Given the description of an element on the screen output the (x, y) to click on. 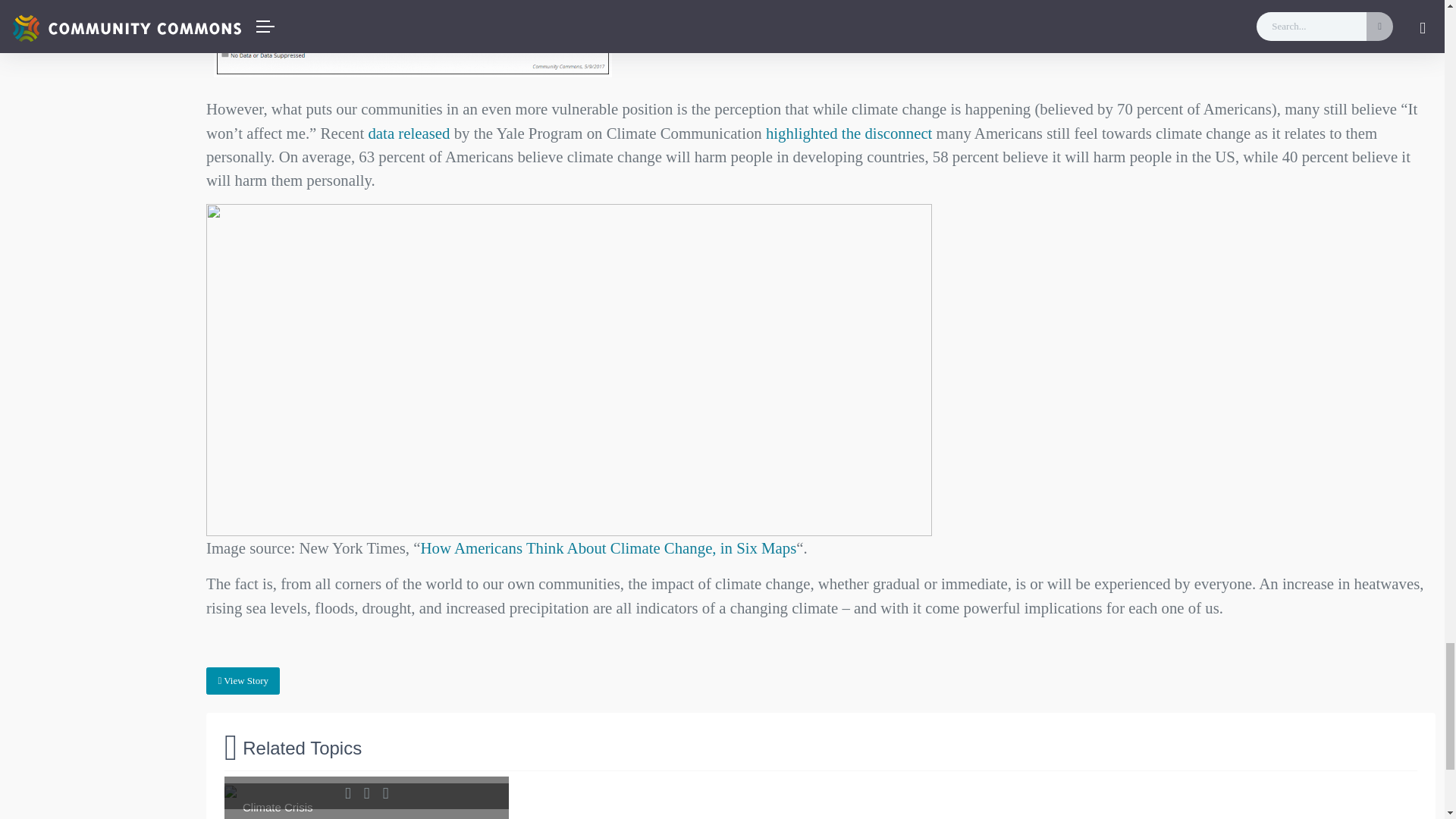
data released (408, 132)
